Given the description of an element on the screen output the (x, y) to click on. 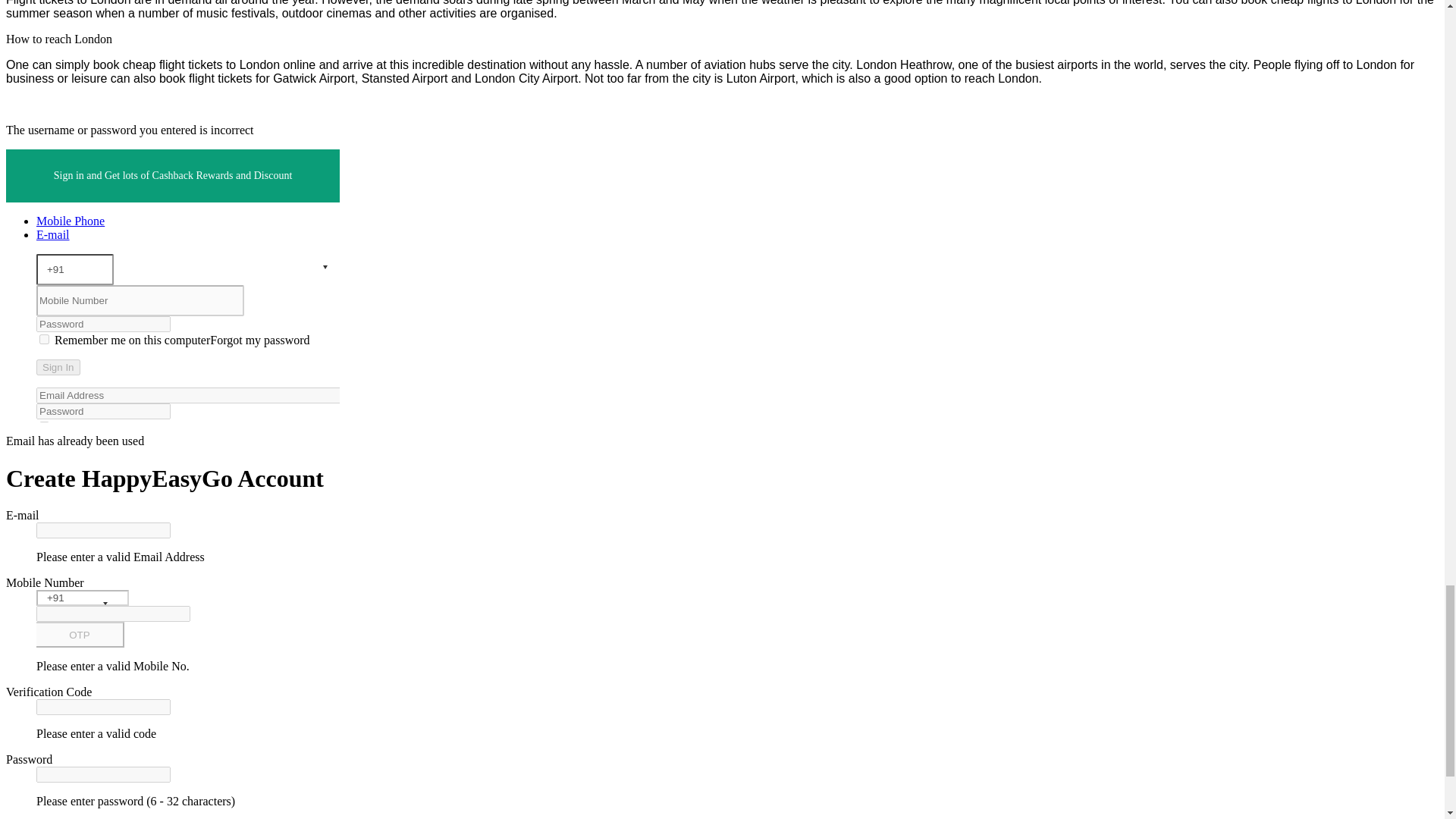
on (44, 426)
OTP (79, 634)
on (44, 338)
